Given the description of an element on the screen output the (x, y) to click on. 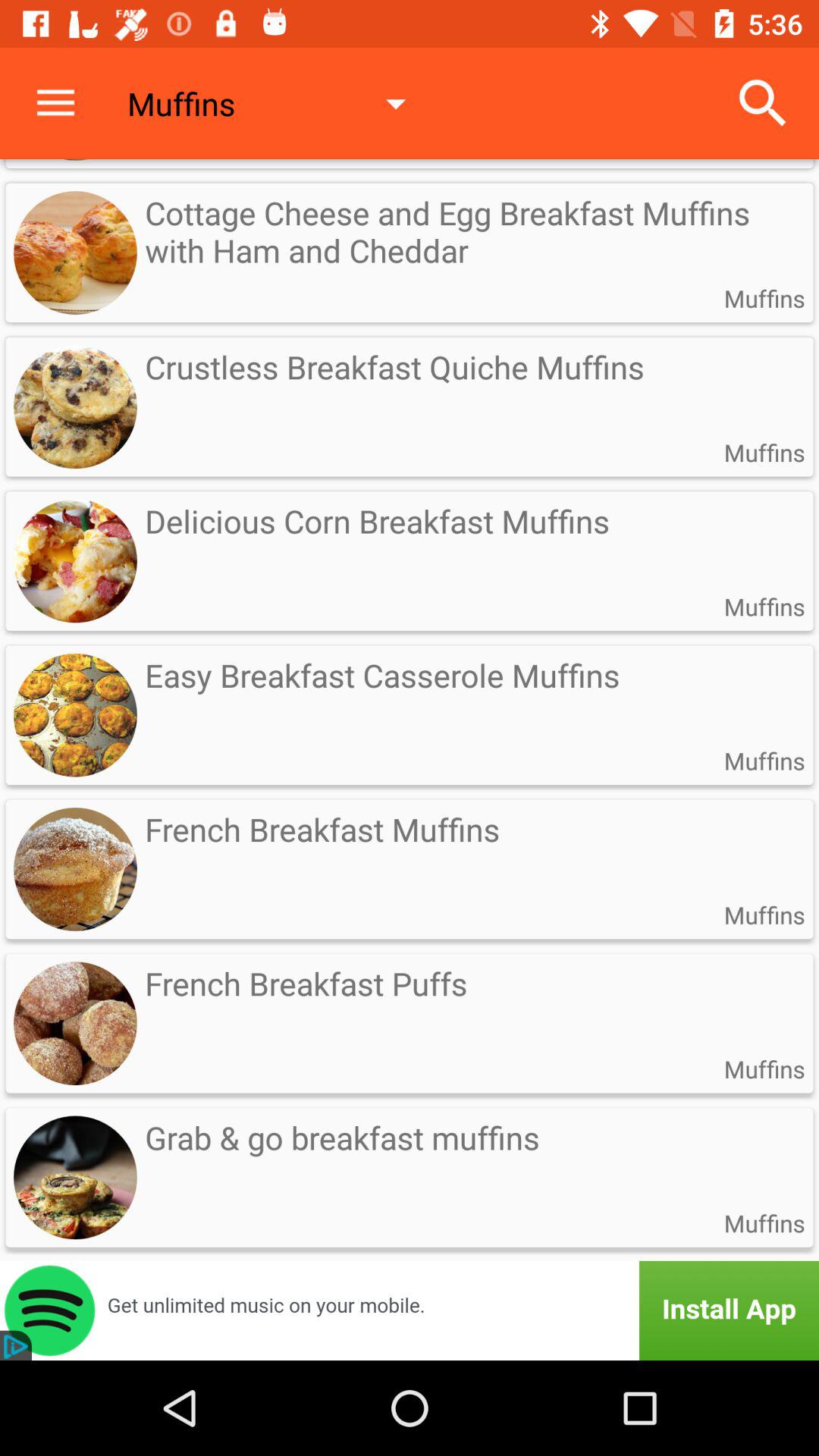
advertisement button (409, 1310)
